Given the description of an element on the screen output the (x, y) to click on. 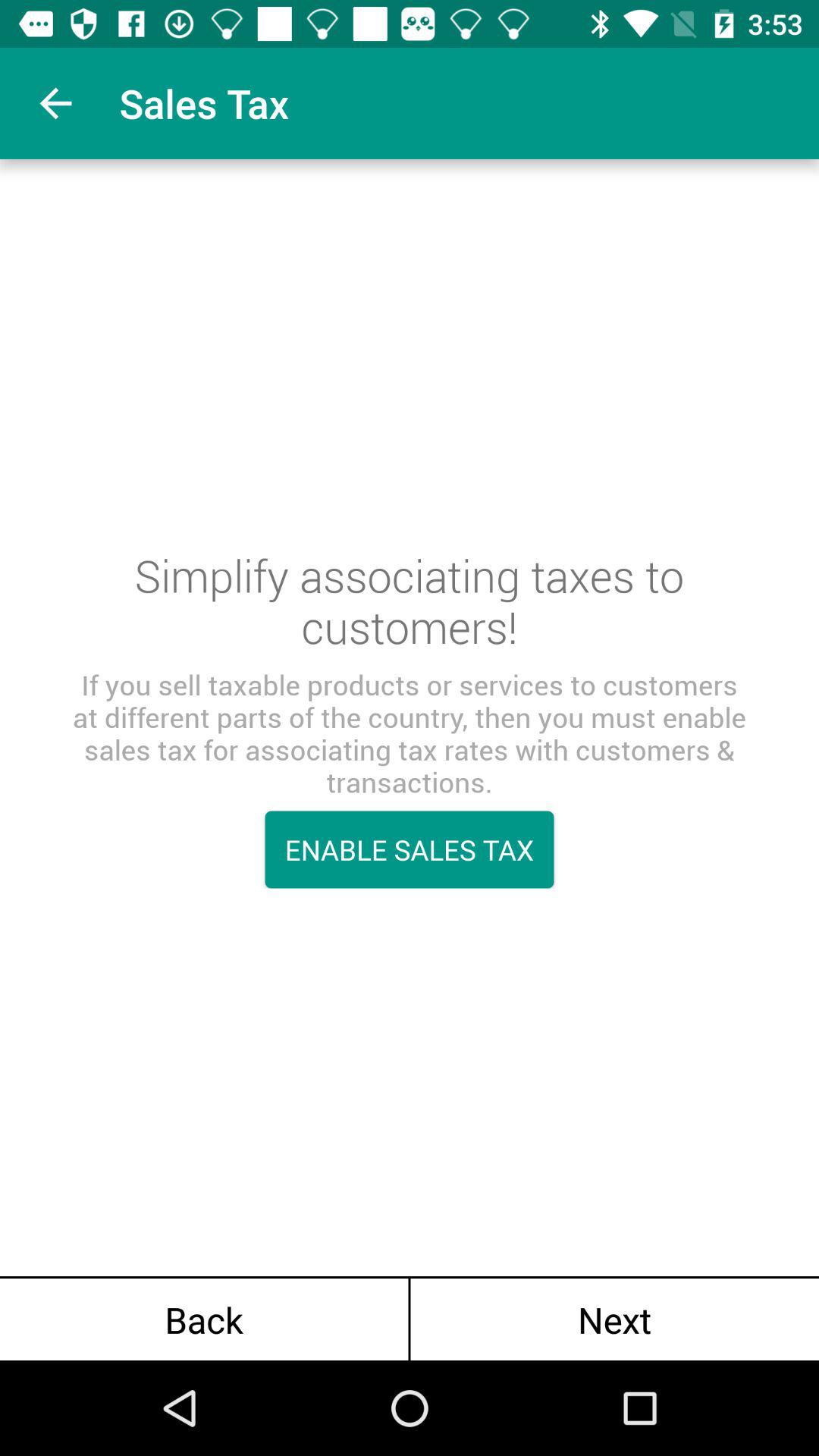
click app to the left of sales tax app (55, 103)
